Given the description of an element on the screen output the (x, y) to click on. 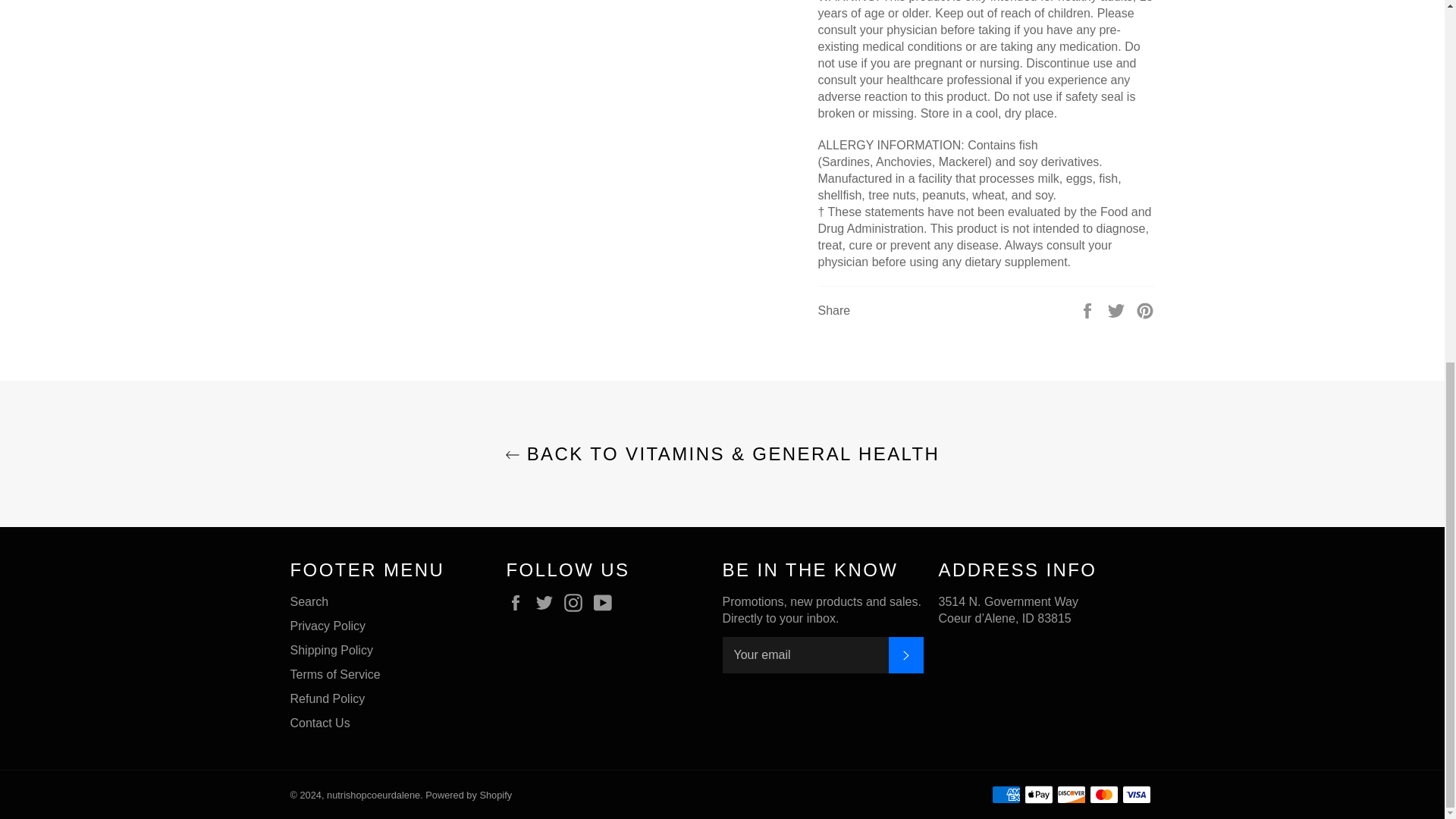
Contact Us (319, 722)
nutrishopcoeurdalene on Twitter (547, 602)
Pin on Pinterest (1144, 309)
Twitter (547, 602)
Tweet on Twitter (1117, 309)
Terms of Service (334, 674)
nutrishopcoeurdalene on Facebook (519, 602)
Share on Facebook (1088, 309)
Pin on Pinterest (1144, 309)
Shipping Policy (330, 649)
